Given the description of an element on the screen output the (x, y) to click on. 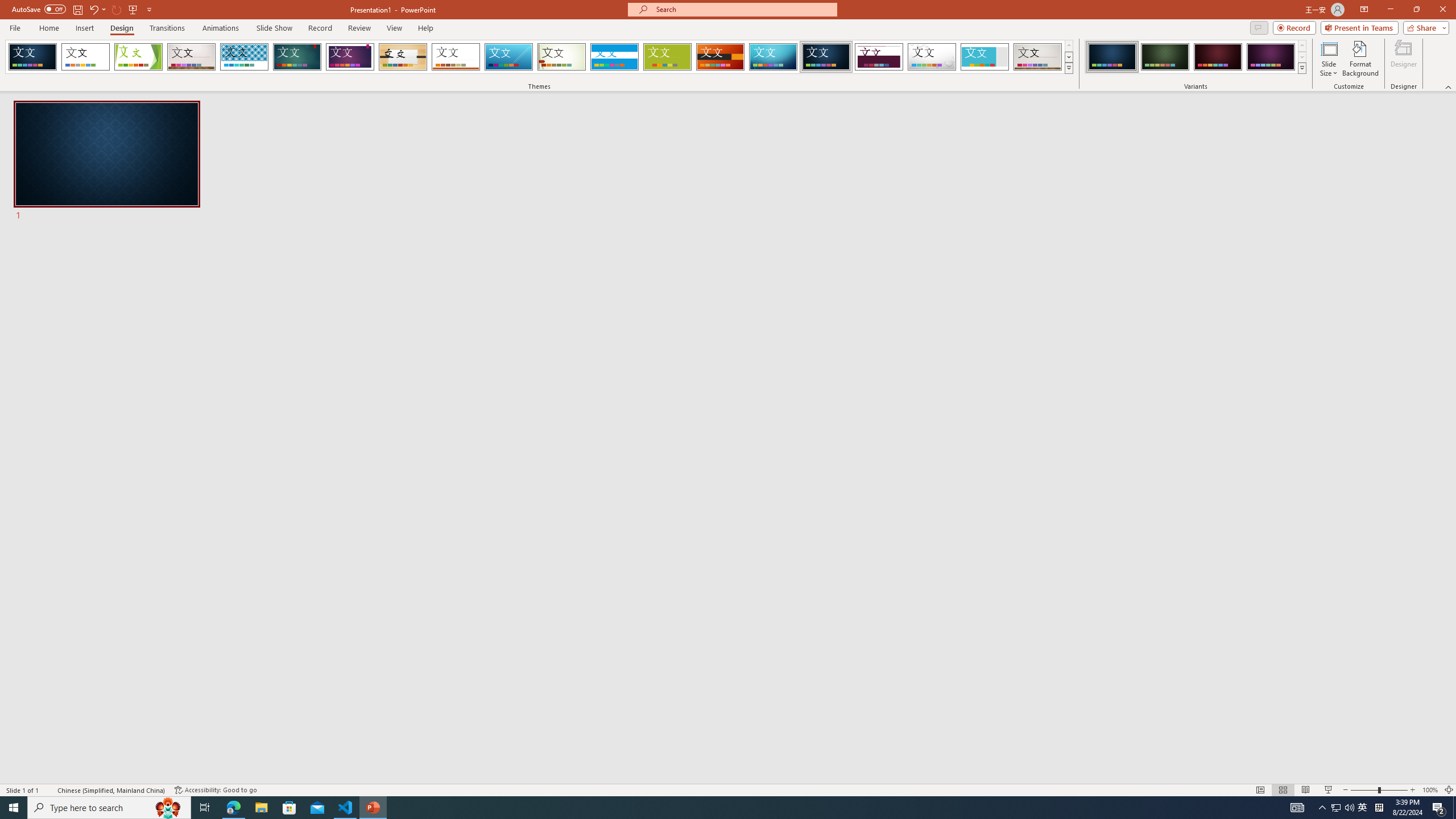
Slide Size (1328, 58)
